Given the description of an element on the screen output the (x, y) to click on. 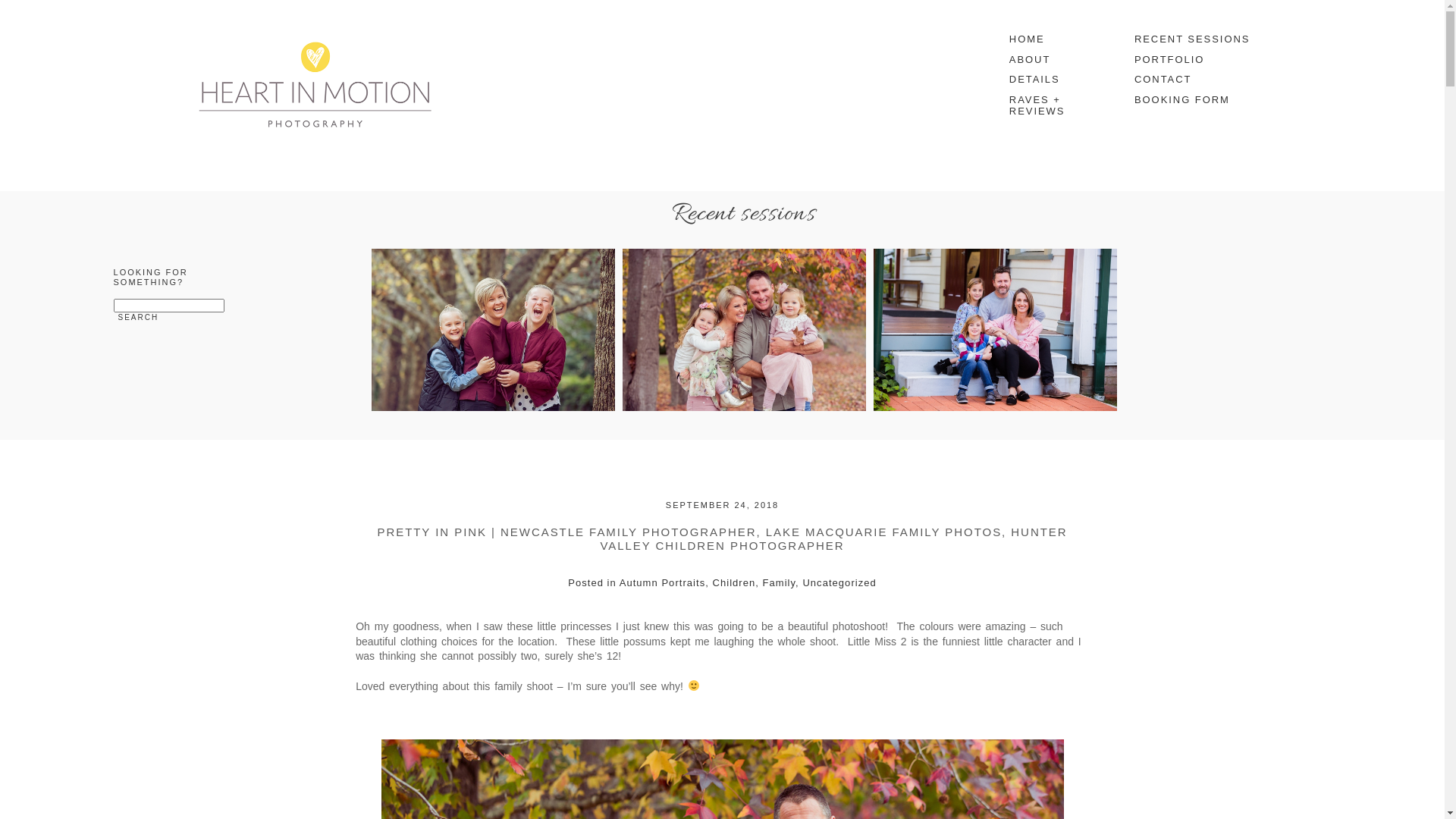
BOOKING FORM Element type: text (1193, 100)
Autumn Portraits Element type: text (662, 582)
Search Element type: text (138, 317)
RAVES + REVIEWS Element type: text (1054, 106)
Family Element type: text (779, 582)
RECENT SESSIONS Element type: text (1193, 39)
HOME Element type: text (1054, 39)
ABOUT Element type: text (1054, 60)
Uncategorized Element type: text (838, 582)
DETAILS Element type: text (1054, 79)
PORTFOLIO Element type: text (1193, 60)
Children Element type: text (734, 582)
CONTACT Element type: text (1193, 79)
